Given the description of an element on the screen output the (x, y) to click on. 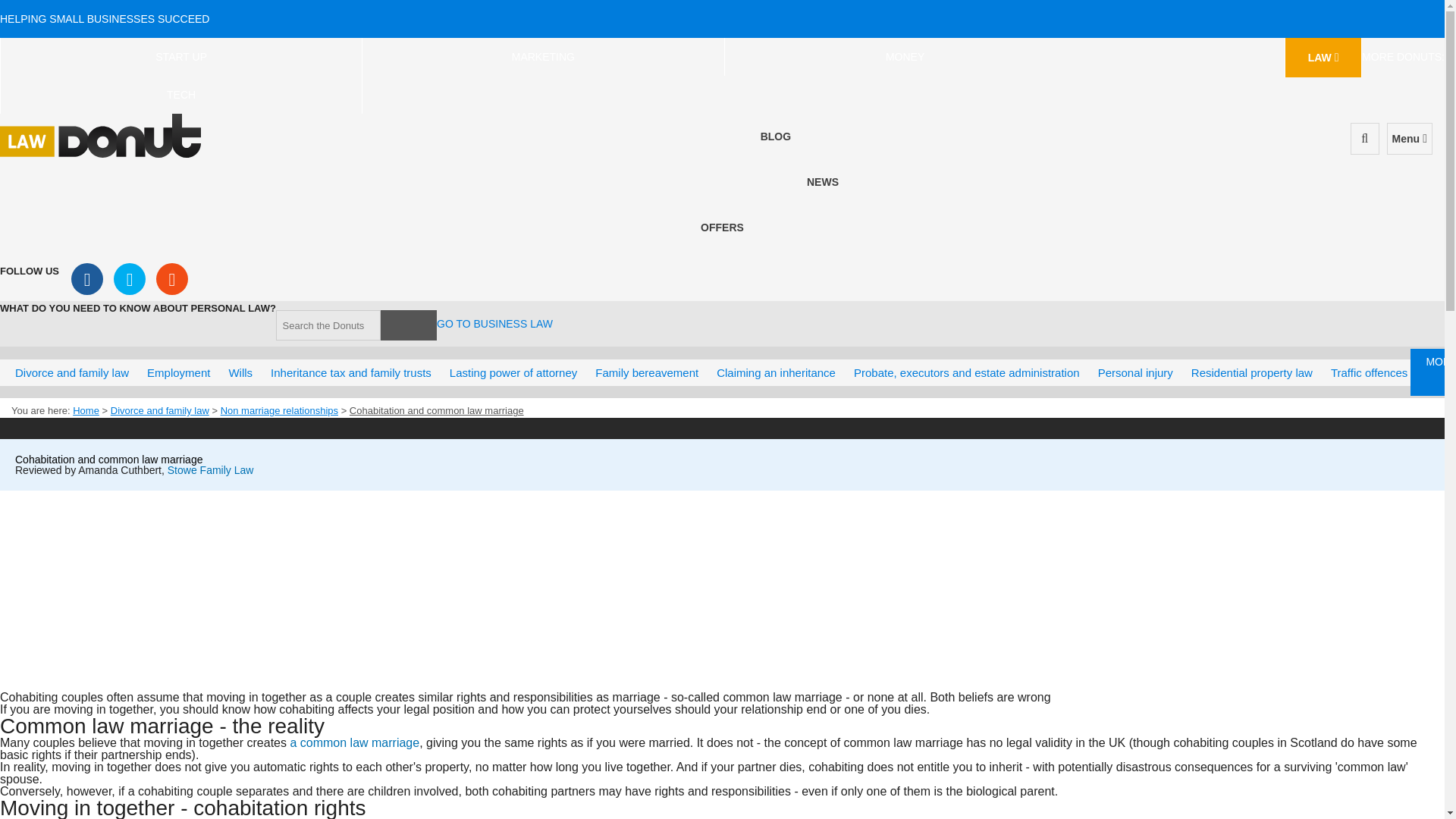
Family bereavement (646, 372)
MONEY (905, 56)
Divorce and family law (72, 372)
Probate, executors and estate administration (966, 372)
Menu (1409, 138)
GO TO BUSINESS LAW (494, 323)
BLOG (775, 136)
LAW (1322, 56)
Enter the terms you wish to search for. (328, 325)
OFFERS (722, 227)
